Given the description of an element on the screen output the (x, y) to click on. 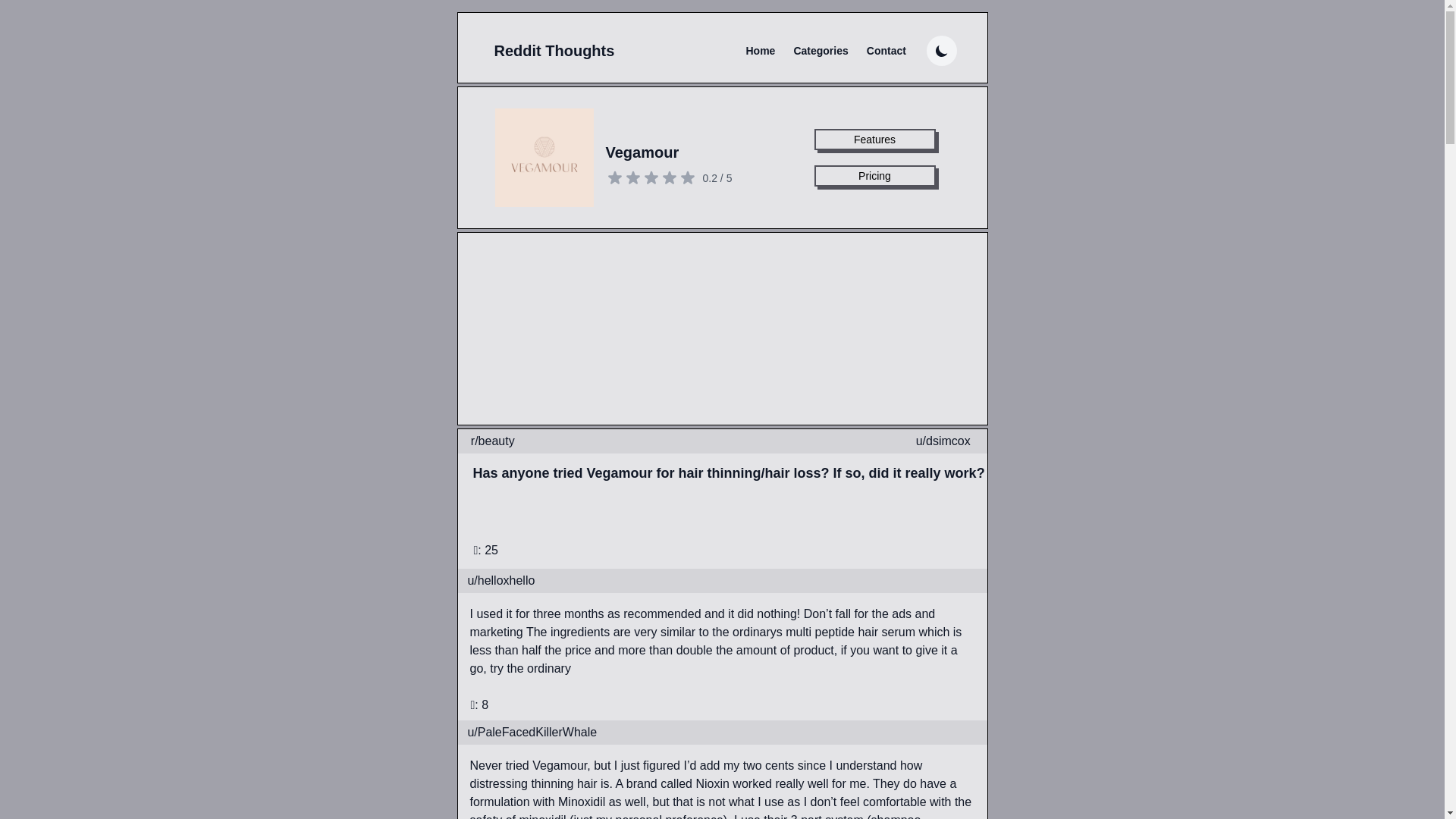
Categories (820, 50)
Pricing (874, 175)
Reddit Thoughts (554, 50)
Features (874, 138)
Contact (886, 50)
Home (760, 50)
